Given the description of an element on the screen output the (x, y) to click on. 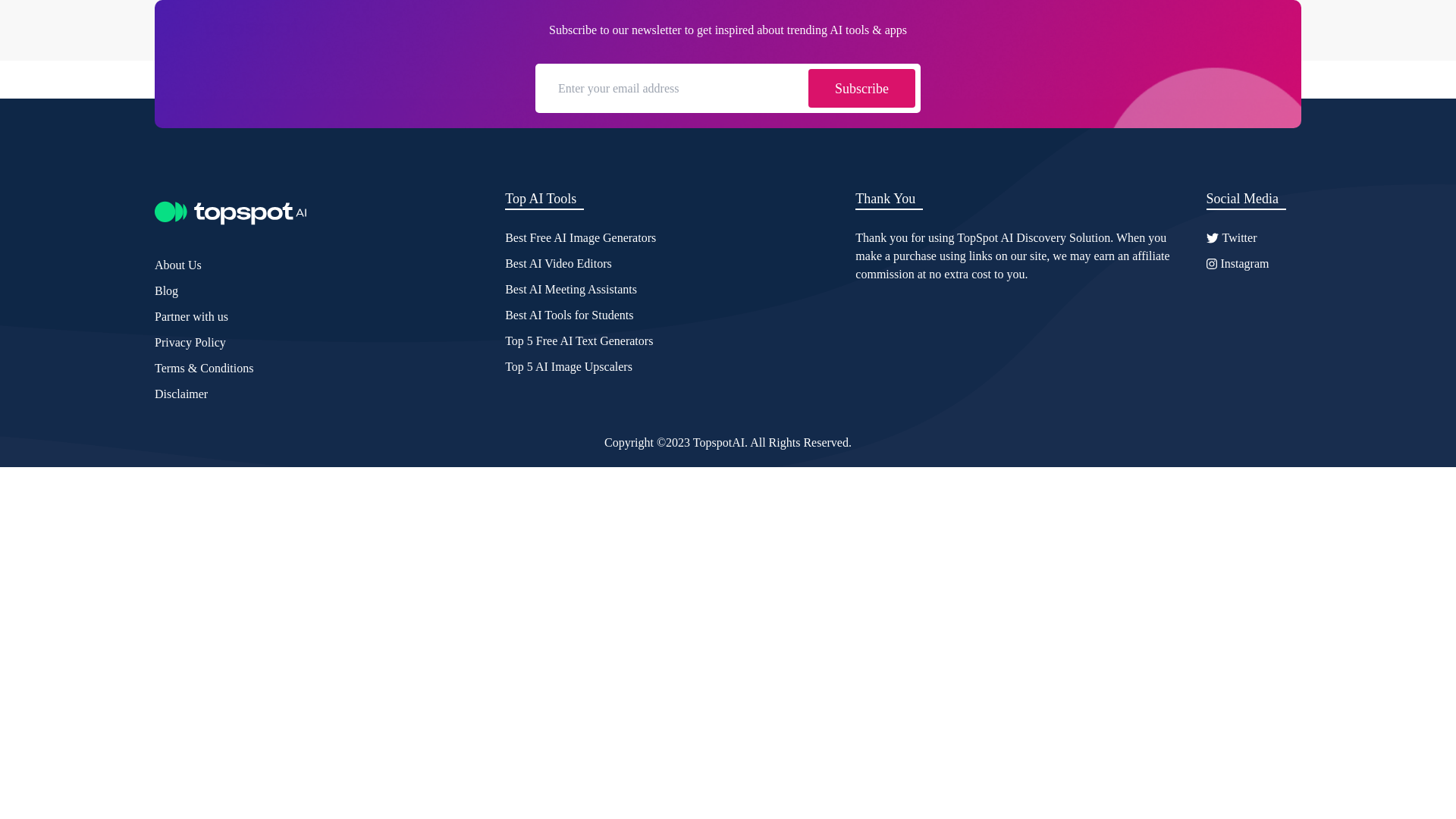
Blog (165, 290)
TopspotAI logo (229, 212)
TopspotAI mobile nav logo (238, 28)
Top 5 AI Image Upscalers (568, 366)
About Us (178, 265)
Best AI Tools for Students (569, 315)
Subscribe (861, 87)
Disclaimer (181, 393)
Partner with us (191, 316)
Privacy Policy (189, 342)
